Given the description of an element on the screen output the (x, y) to click on. 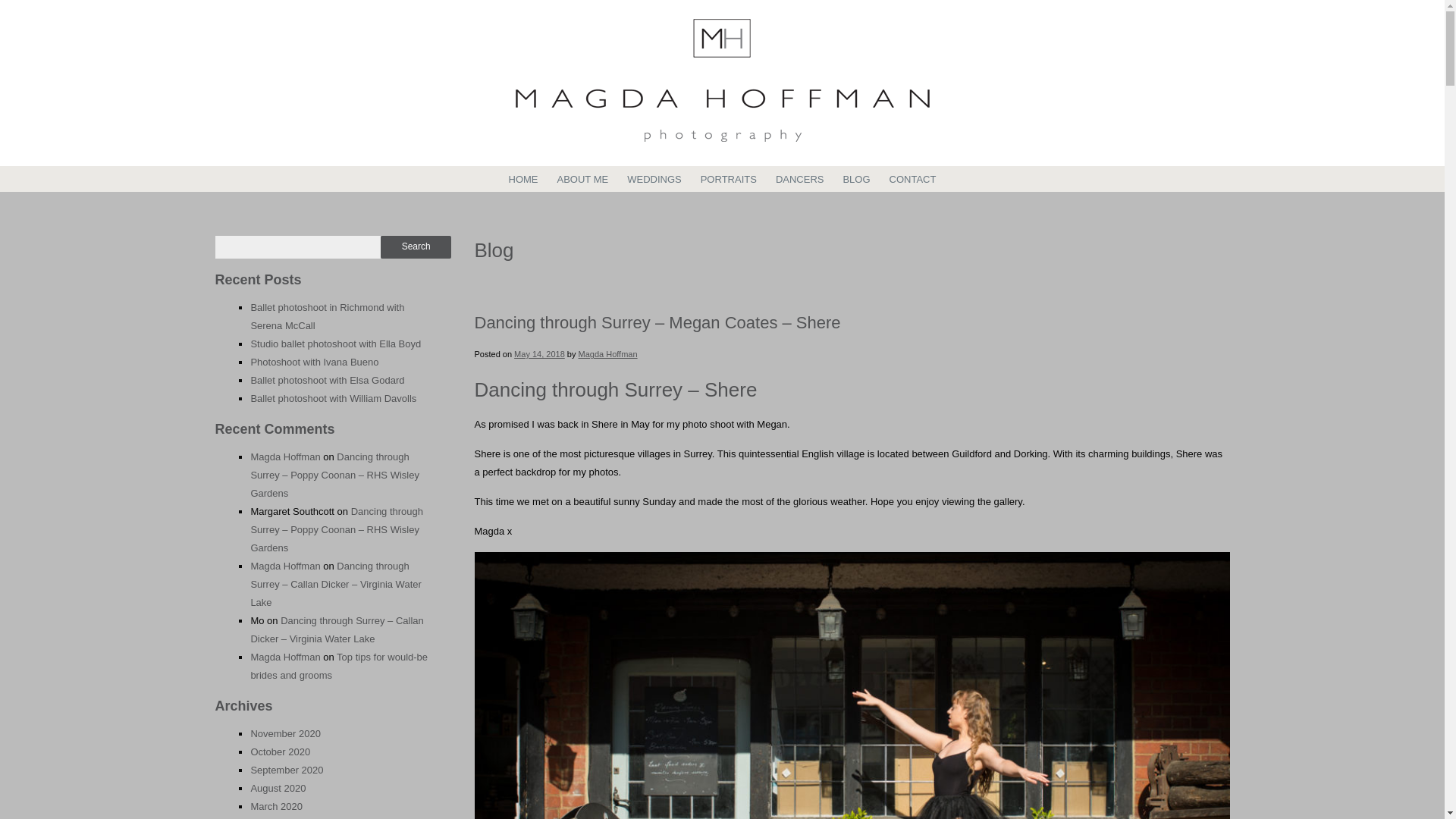
Top tips for would-be brides and grooms (339, 665)
Home (523, 179)
Ballet photoshoot with Elsa Godard (327, 379)
CONTACT (912, 179)
About Me (582, 179)
November 2020 (285, 733)
Dancers (800, 179)
HOME (523, 179)
March 2020 (276, 806)
Portraits (728, 179)
Magda Hoffman (285, 456)
Search (415, 246)
PORTRAITS (728, 179)
1:16 pm (538, 353)
August 2020 (277, 787)
